Given the description of an element on the screen output the (x, y) to click on. 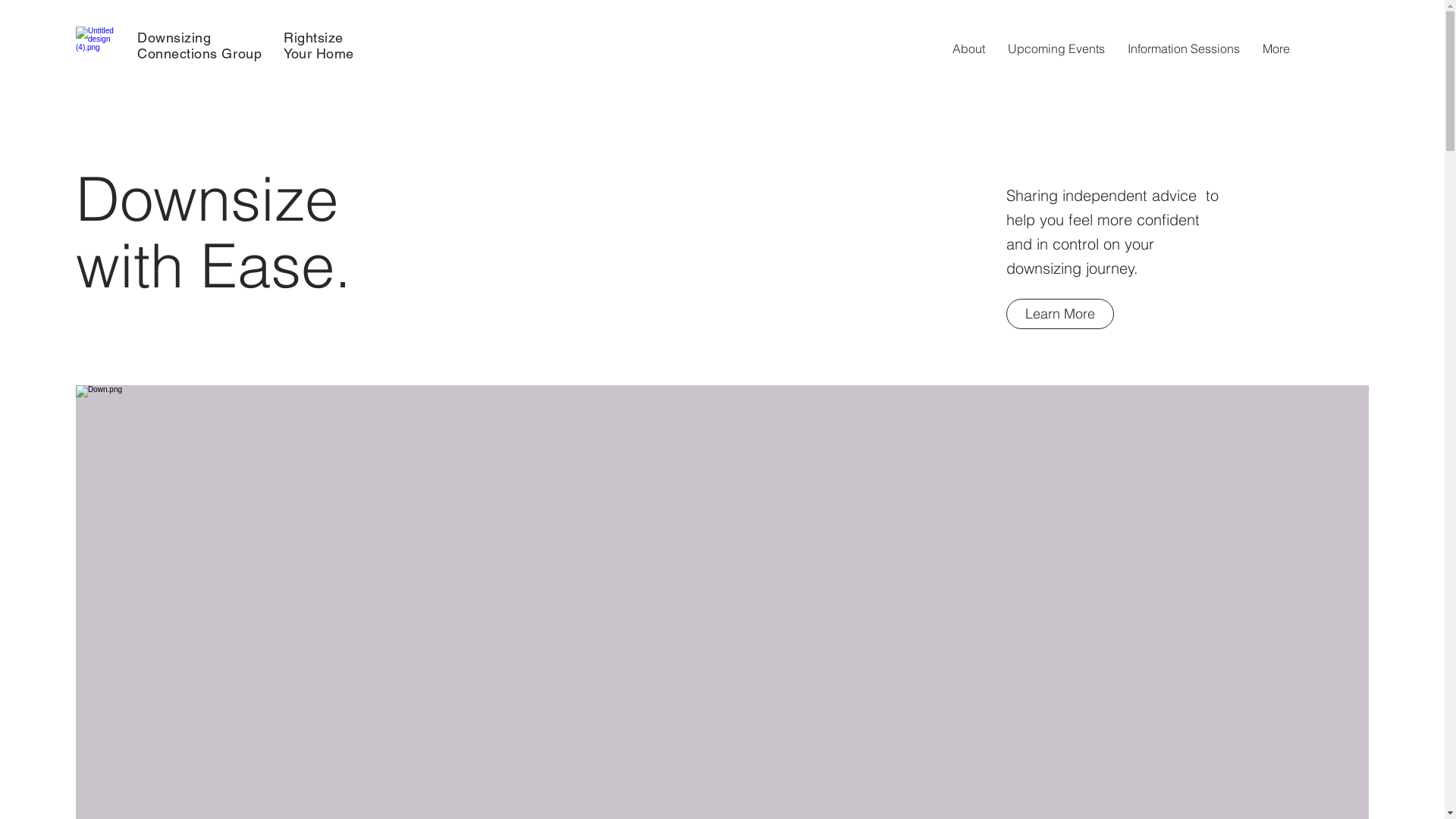
Information Sessions Element type: text (1183, 48)
Rightsize
Your Home Element type: text (318, 45)
Learn More Element type: text (1059, 313)
Downsizing Connections Group Element type: text (199, 45)
Upcoming Events Element type: text (1056, 48)
About Element type: text (968, 48)
